Given the description of an element on the screen output the (x, y) to click on. 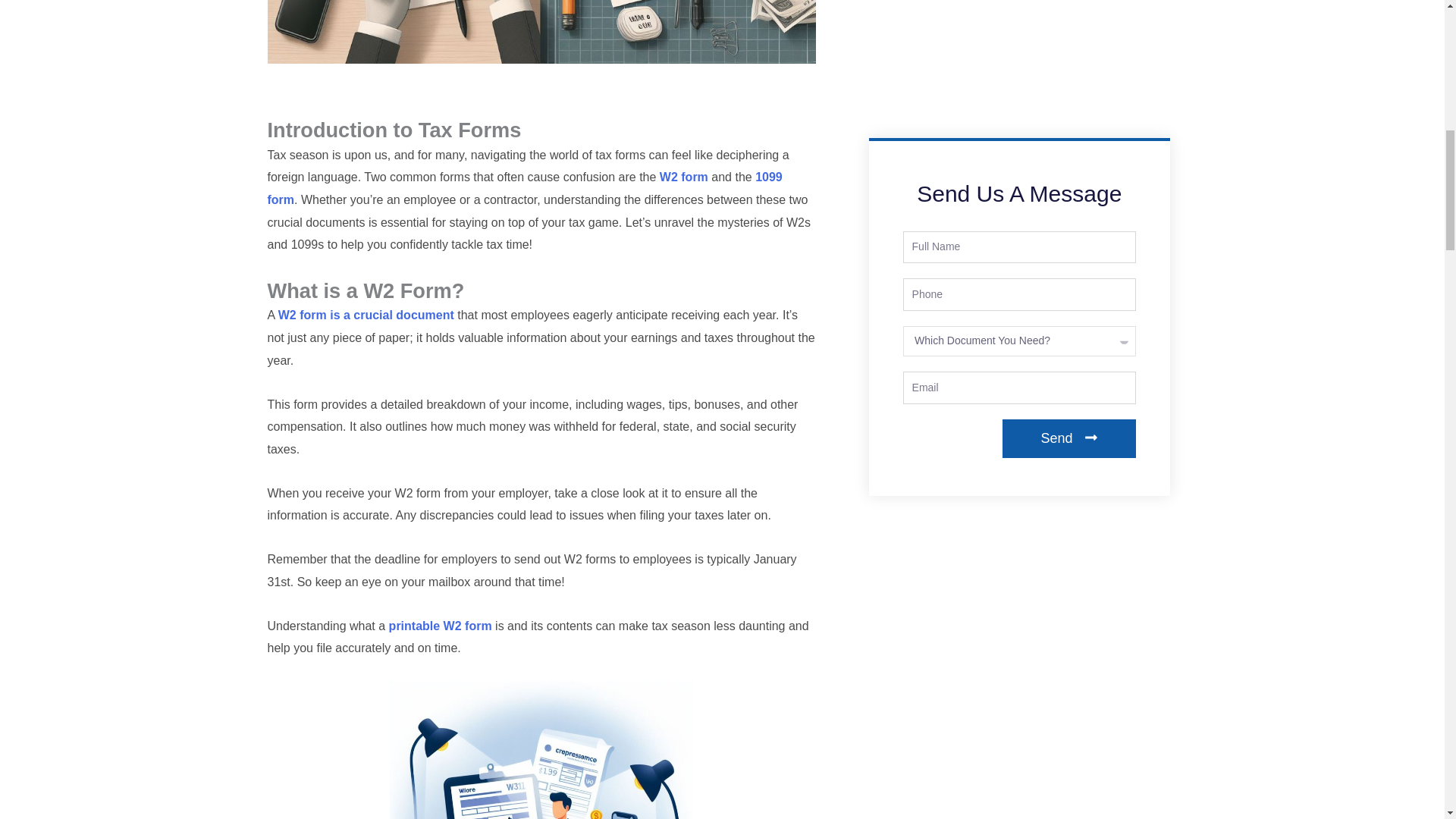
W2 form is a crucial document (366, 314)
Send (1069, 438)
printable W2 form (440, 625)
W2 form (683, 176)
1099 form (523, 188)
